Given the description of an element on the screen output the (x, y) to click on. 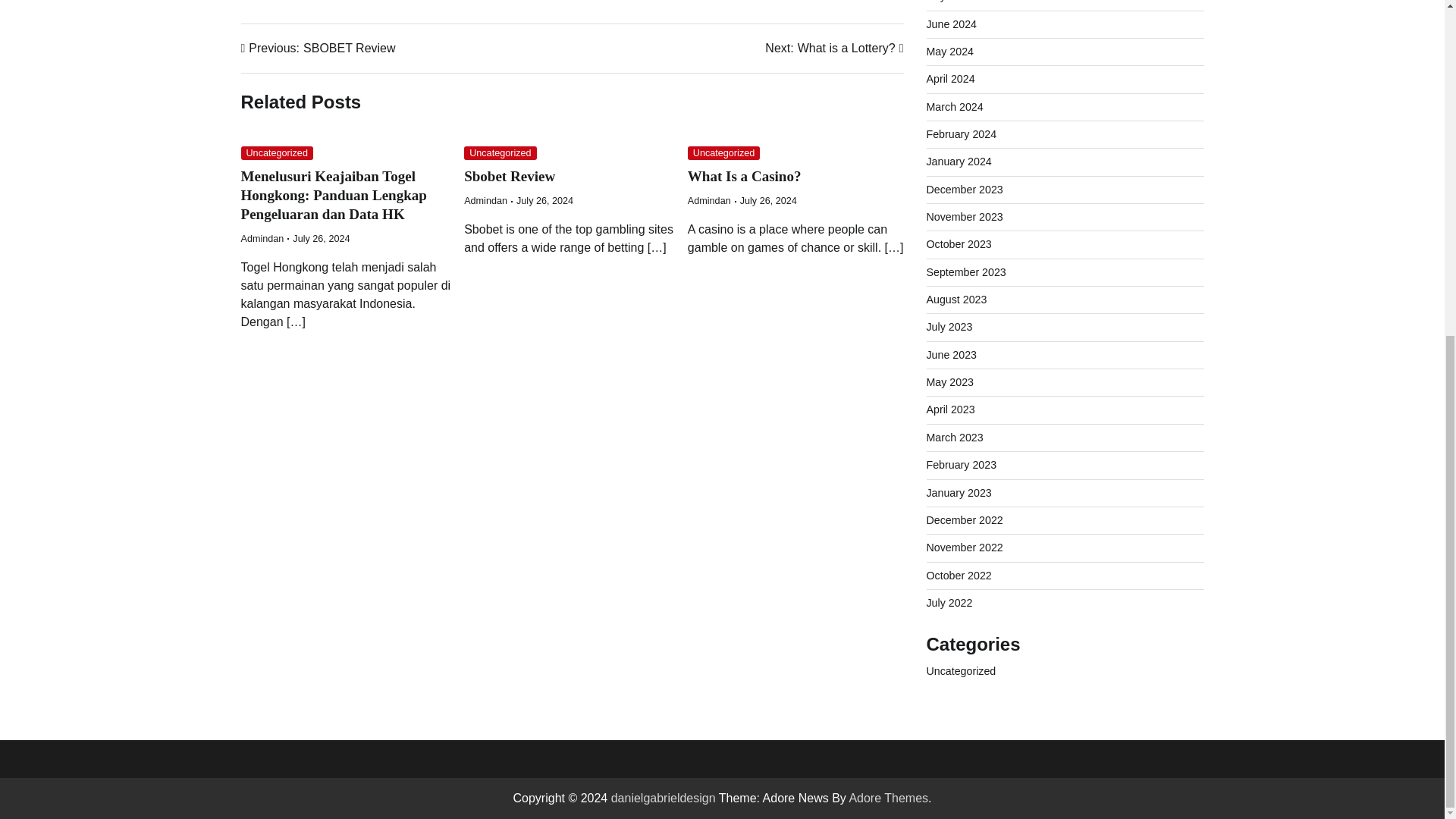
March 2024 (955, 106)
Admindan (708, 200)
Uncategorized (499, 153)
May 2024 (950, 51)
October 2023 (958, 244)
What Is a Casino? (744, 176)
June 2024 (951, 24)
Uncategorized (723, 153)
Admindan (485, 200)
November 2023 (964, 216)
April 2024 (950, 78)
Sbobet Review (509, 176)
Admindan (262, 238)
Uncategorized (277, 153)
